Given the description of an element on the screen output the (x, y) to click on. 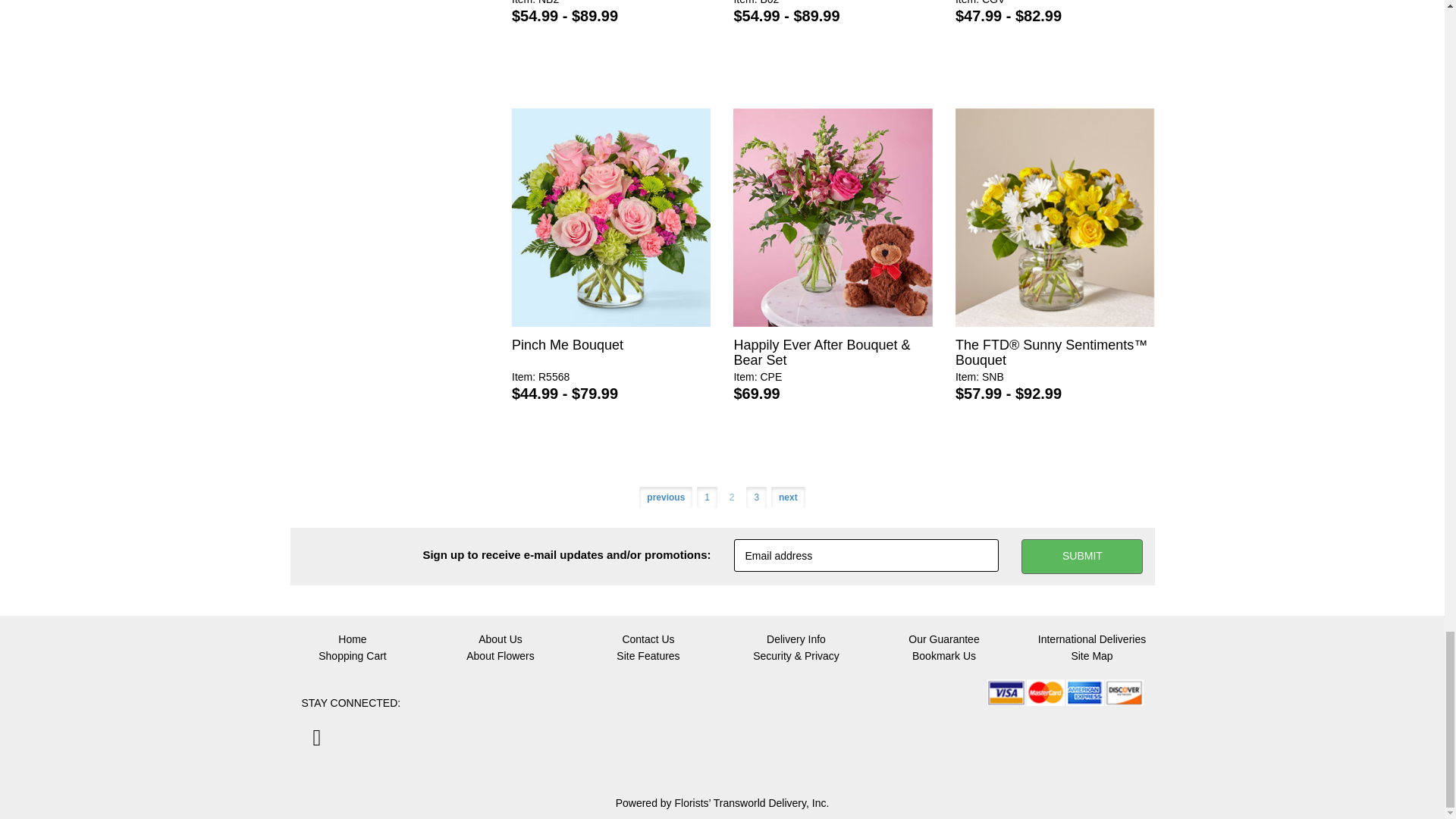
Email address (865, 554)
SUBMIT (1082, 556)
